Given the description of an element on the screen output the (x, y) to click on. 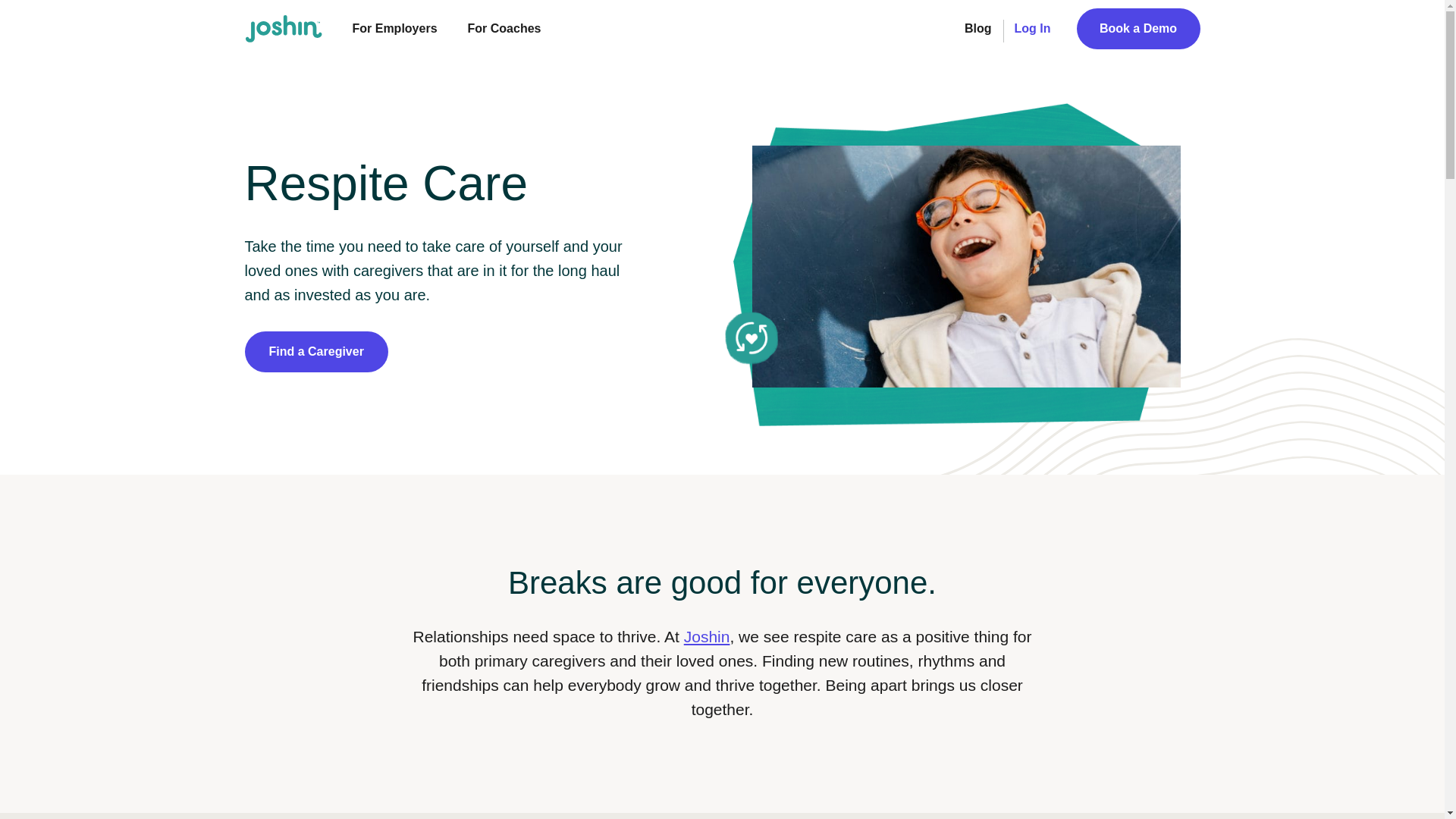
Find a Caregiver (315, 351)
Joshin (707, 636)
For Employers (394, 28)
Blog (977, 28)
Book a Demo (1138, 28)
Log In (1032, 28)
For Coaches (504, 28)
